Given the description of an element on the screen output the (x, y) to click on. 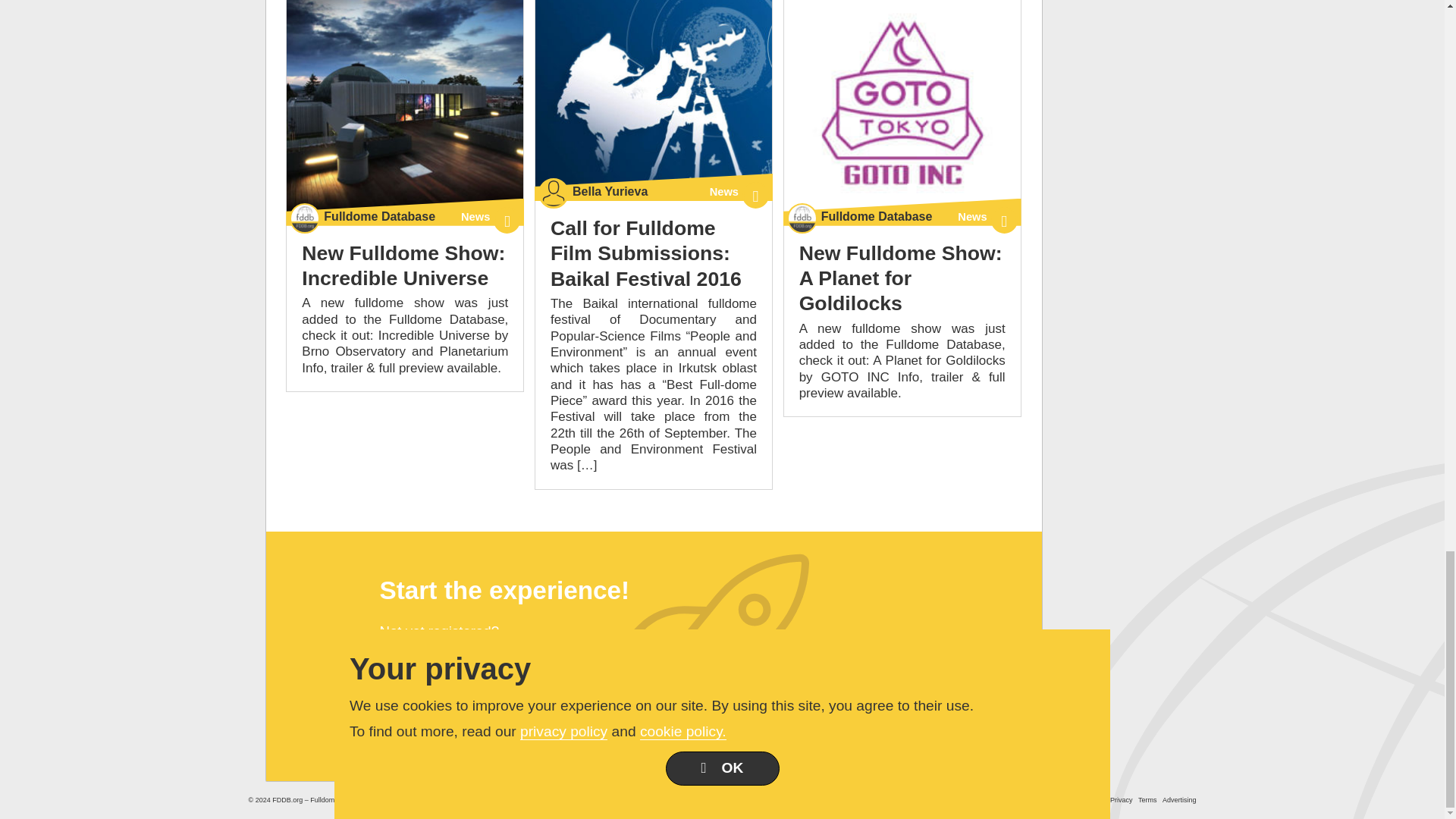
New Fulldome Show: Incredible Universe (404, 110)
Call for Fulldome Film Submissions: Baikal Festival 2016 (645, 253)
New Fulldome Show: Incredible Universe (403, 265)
New Fulldome Show: A Planet for Goldilocks (902, 110)
Call for Fulldome Film Submissions: Baikal Festival 2016 (653, 98)
New Fulldome Show: A Planet for Goldilocks (901, 278)
